Given the description of an element on the screen output the (x, y) to click on. 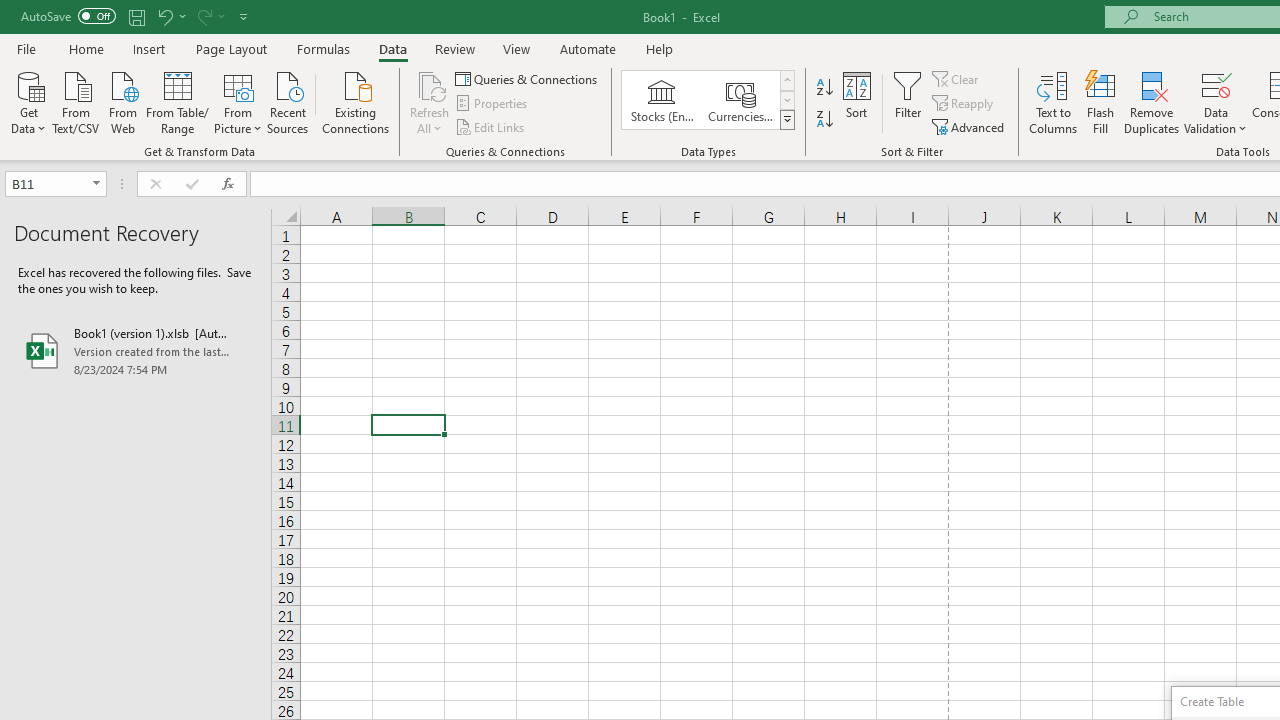
Stocks (English) (662, 100)
Queries & Connections (527, 78)
Data Types (786, 120)
Get Data (28, 101)
AutomationID: ConvertToLinkedEntity (708, 99)
Advanced... (970, 126)
